Given the description of an element on the screen output the (x, y) to click on. 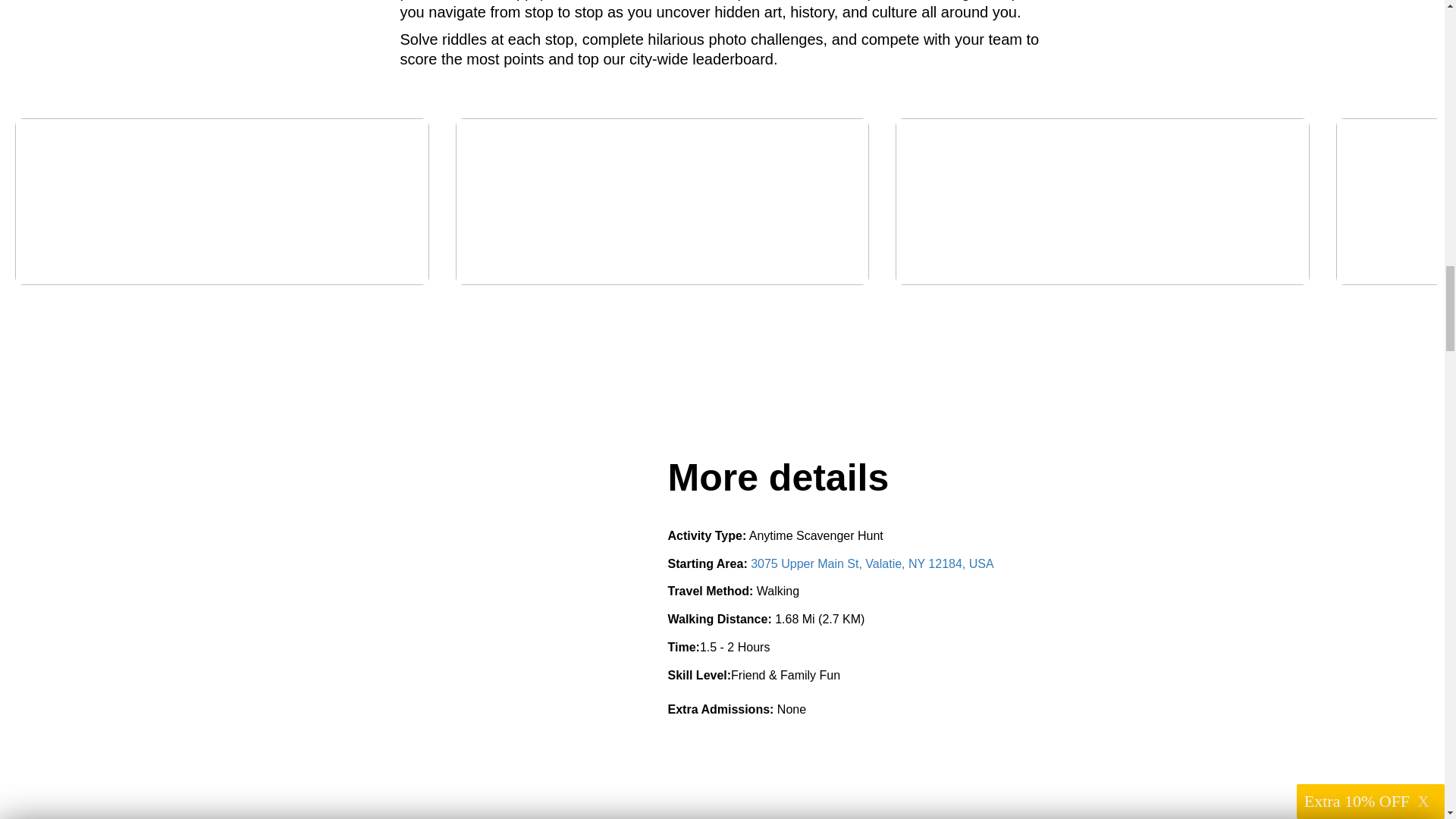
Get Directions To This Scavenger Hunt (871, 563)
3075 Upper Main St, Valatie, NY 12184, USA (871, 563)
